Given the description of an element on the screen output the (x, y) to click on. 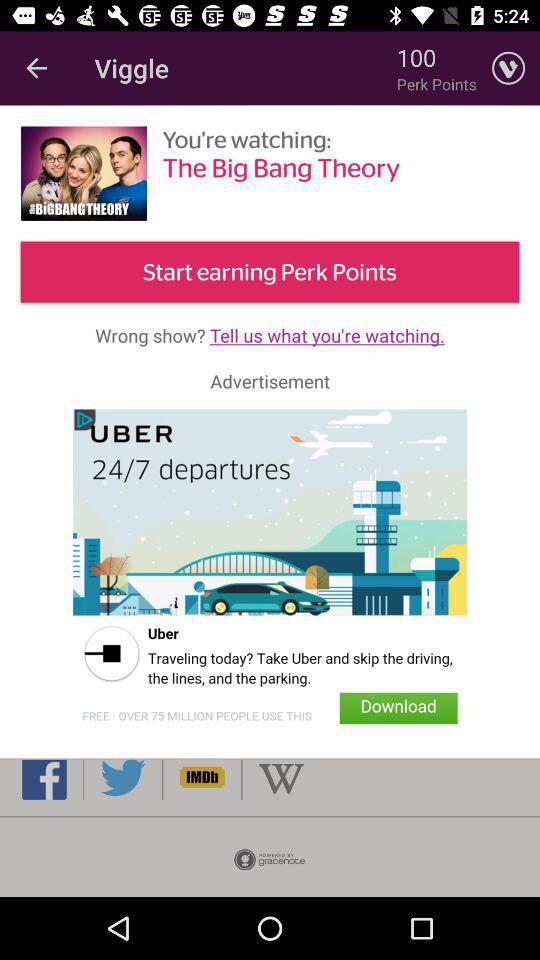
advertisement click option (269, 573)
